Given the description of an element on the screen output the (x, y) to click on. 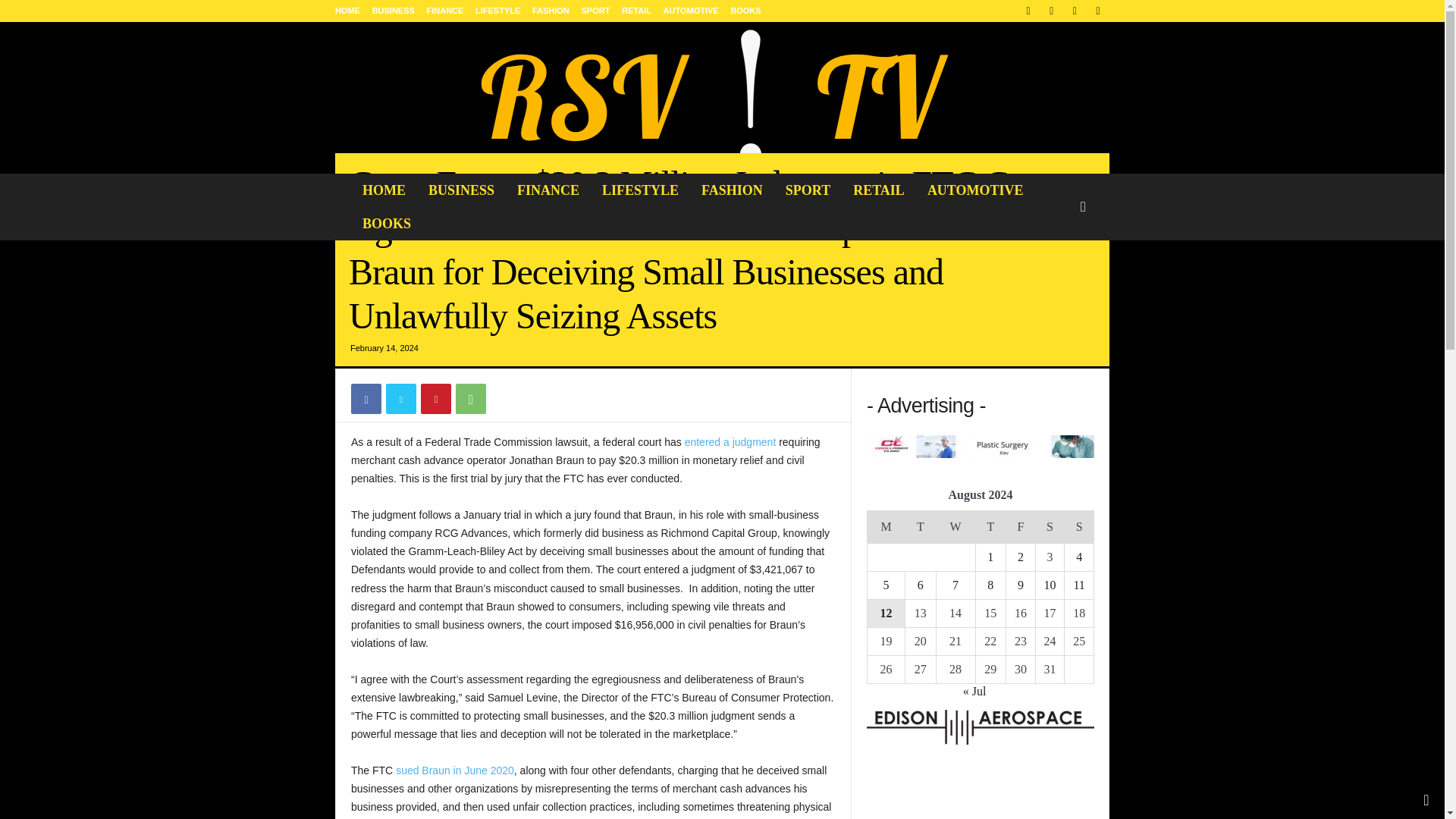
RETAIL (878, 190)
AUTOMOTIVE (975, 190)
FASHION (550, 10)
LIFESTYLE (497, 10)
BOOKS (386, 223)
BUSINESS (460, 190)
FASHION (732, 190)
Facebook (365, 399)
SPORT (807, 190)
